Given the description of an element on the screen output the (x, y) to click on. 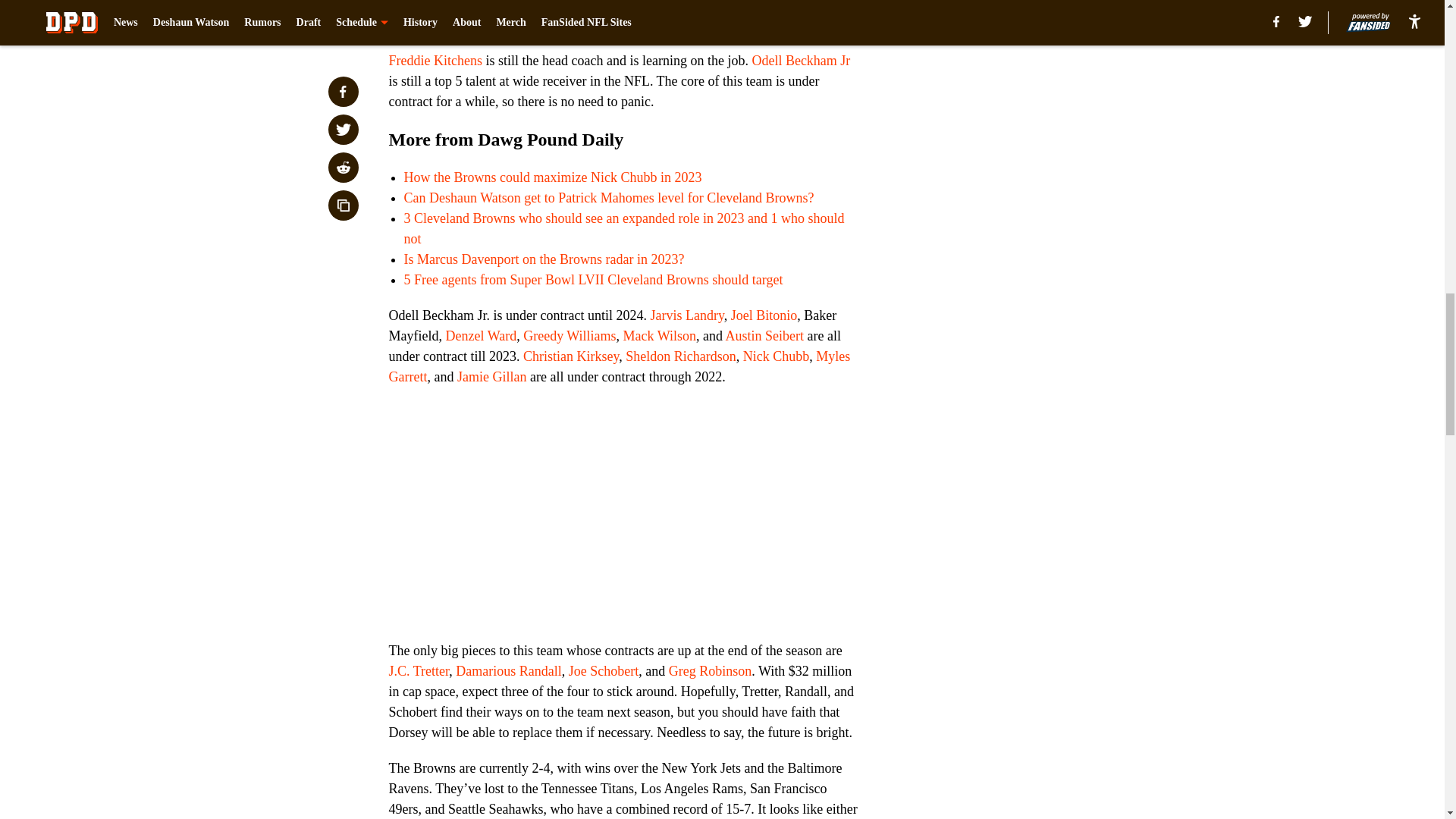
Joel Bitonio (763, 314)
How the Browns could maximize Nick Chubb in 2023 (552, 177)
Denzel Ward (480, 335)
Odell Beckham Jr (800, 60)
Mack Wilson (659, 335)
Greedy Williams (568, 335)
Freddie Kitchens (434, 60)
Baker Mayfield (562, 6)
Jarvis Landry (686, 314)
Is Marcus Davenport on the Browns radar in 2023? (543, 258)
